Given the description of an element on the screen output the (x, y) to click on. 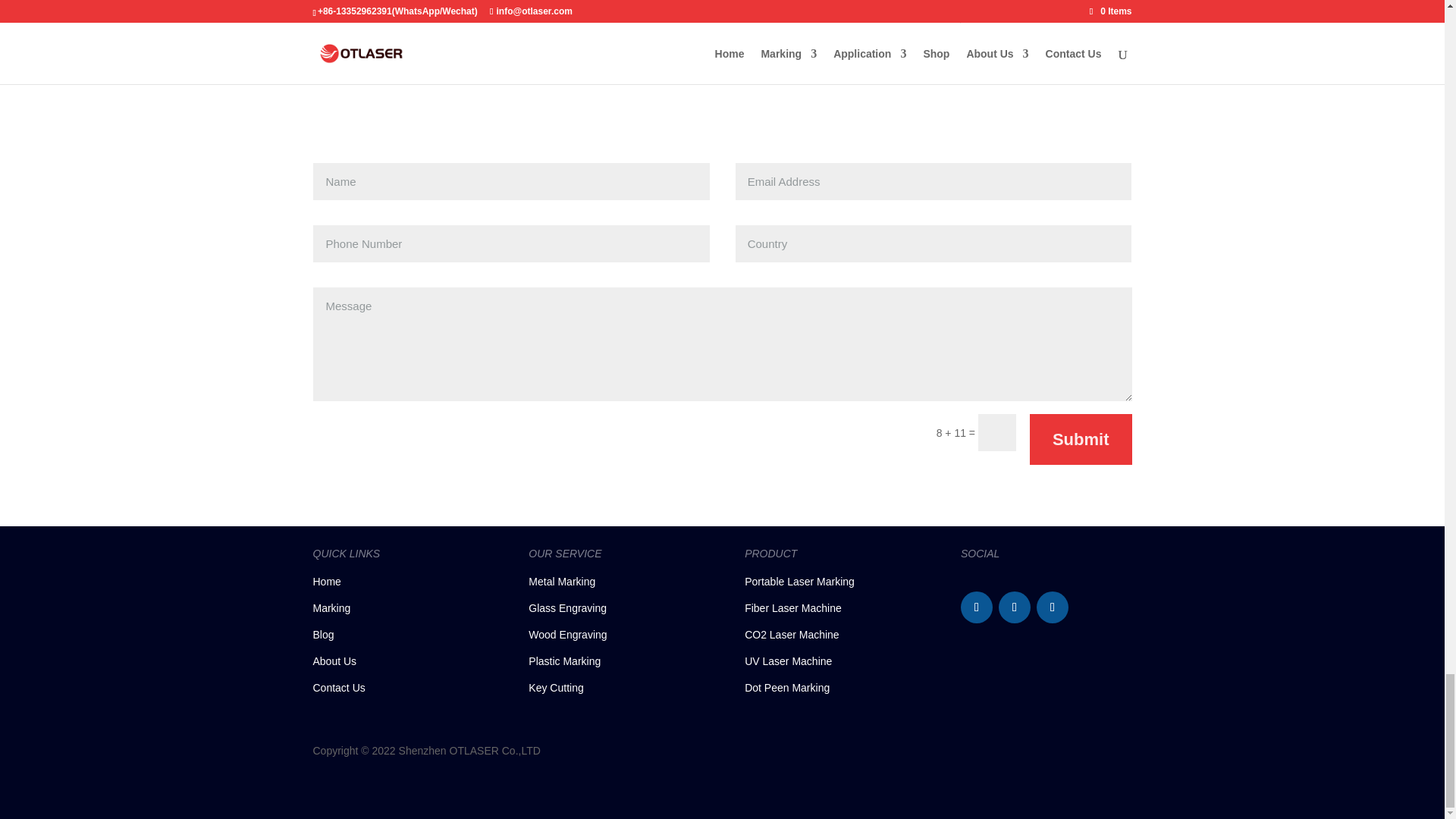
Follow on LinkedIn (1052, 607)
Follow on Twitter (1014, 607)
Only numbers allowed. (511, 243)
Follow on Facebook (976, 607)
